Given the description of an element on the screen output the (x, y) to click on. 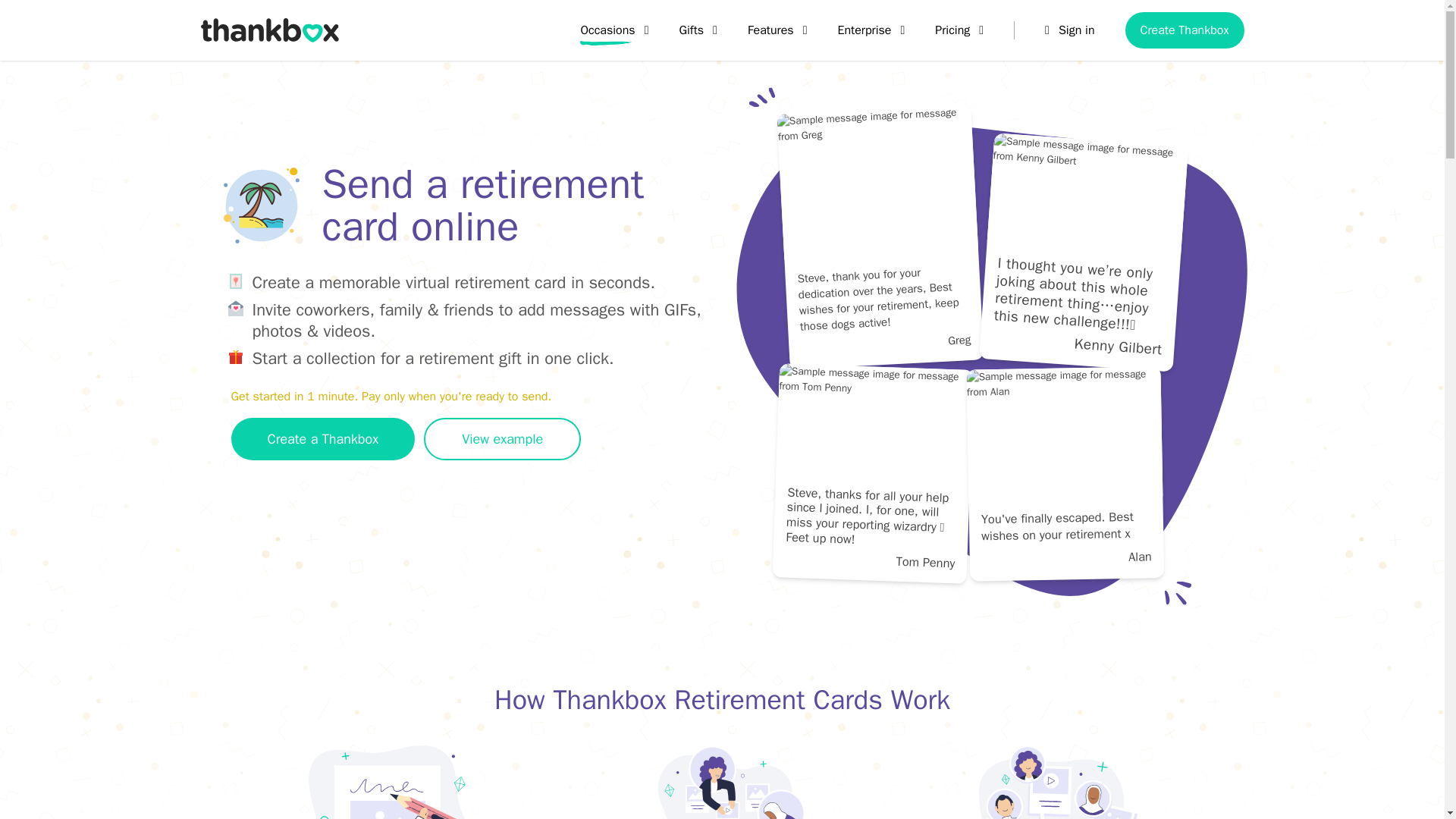
Occasions (613, 30)
Pricing (959, 30)
Gifts (697, 30)
Sign in (1069, 30)
Customer reviews powered by Trustpilot (328, 508)
Enterprise (870, 30)
Features (778, 30)
